Given the description of an element on the screen output the (x, y) to click on. 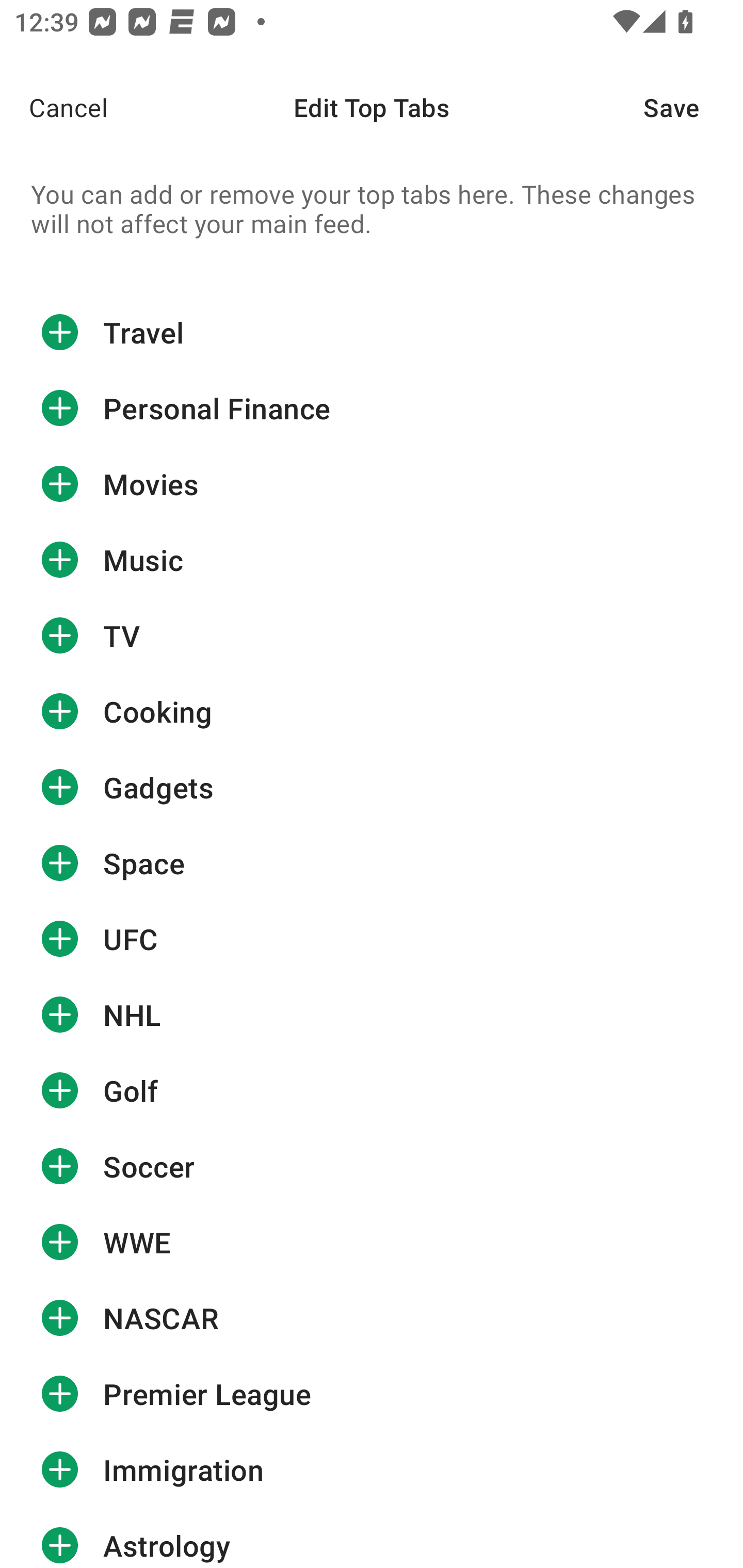
Cancel (53, 106)
Save (693, 106)
Travel (371, 332)
Personal Finance (371, 408)
Movies (371, 484)
Music (371, 559)
TV (371, 635)
Cooking (371, 711)
Gadgets (371, 786)
Space (371, 862)
UFC (371, 938)
NHL (371, 1014)
Golf (371, 1090)
Soccer (371, 1166)
WWE (371, 1241)
NASCAR (371, 1317)
Premier League (371, 1393)
Immigration (371, 1469)
Astrology (371, 1538)
